Given the description of an element on the screen output the (x, y) to click on. 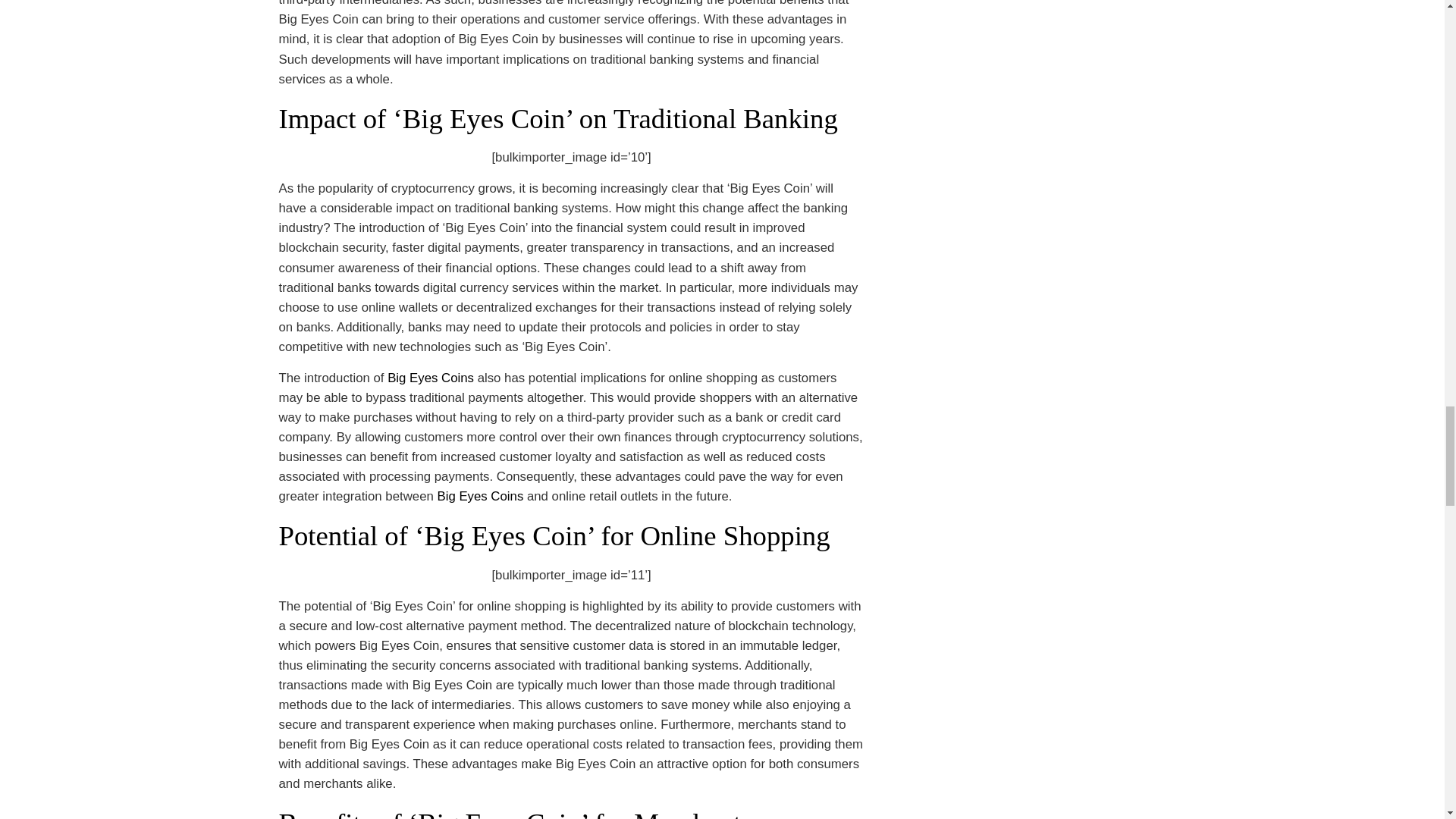
Big Eyes Coins (479, 495)
Big Eyes Coins (479, 495)
Big Eyes Coins (430, 377)
Big Eyes Coins (430, 377)
